Given the description of an element on the screen output the (x, y) to click on. 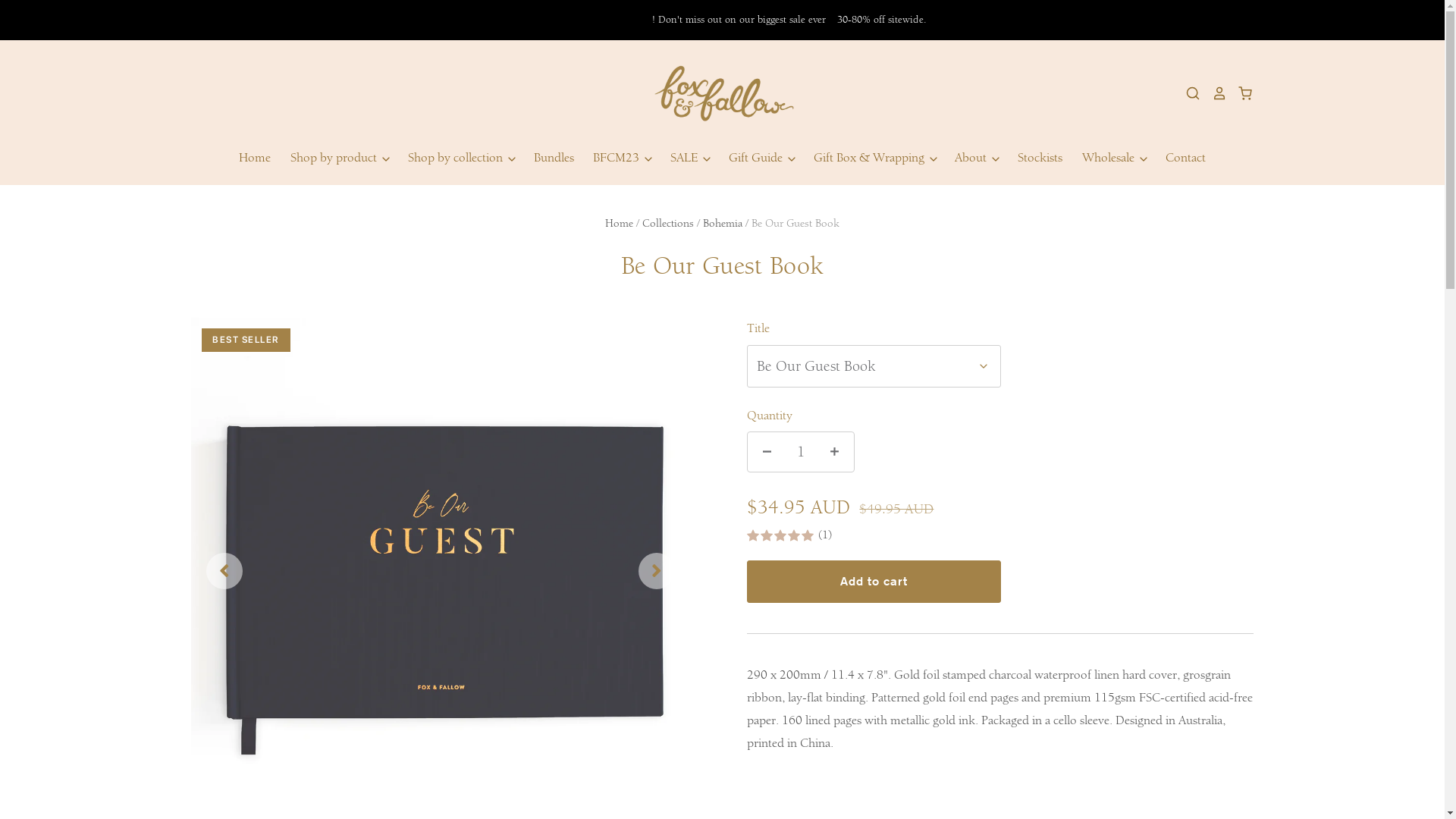
Bohemia Element type: text (722, 223)
Home Element type: text (619, 223)
Add to cart Element type: text (873, 581)
Stockists Element type: text (1031, 158)
Bundles Element type: text (536, 158)
 (1) Element type: text (999, 536)
Collections Element type: text (667, 223)
Contact Element type: text (1176, 158)
